Given the description of an element on the screen output the (x, y) to click on. 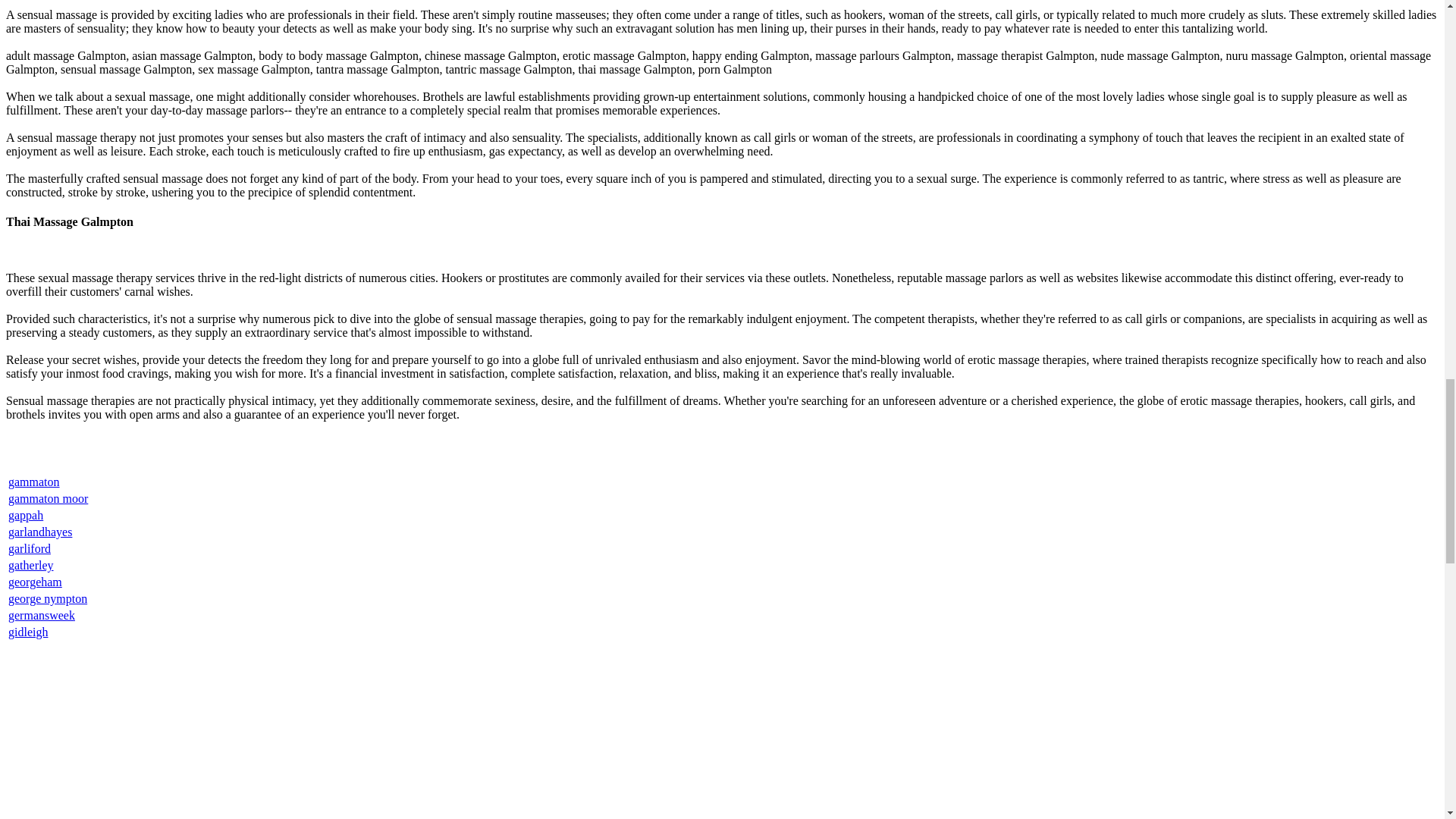
garlandhayes (39, 531)
georgeham (35, 581)
gappah (25, 514)
gatherley (30, 564)
gidleigh (28, 631)
gammaton moor (47, 498)
germansweek (41, 615)
gammaton (33, 481)
george nympton (47, 598)
garliford (29, 548)
